Given the description of an element on the screen output the (x, y) to click on. 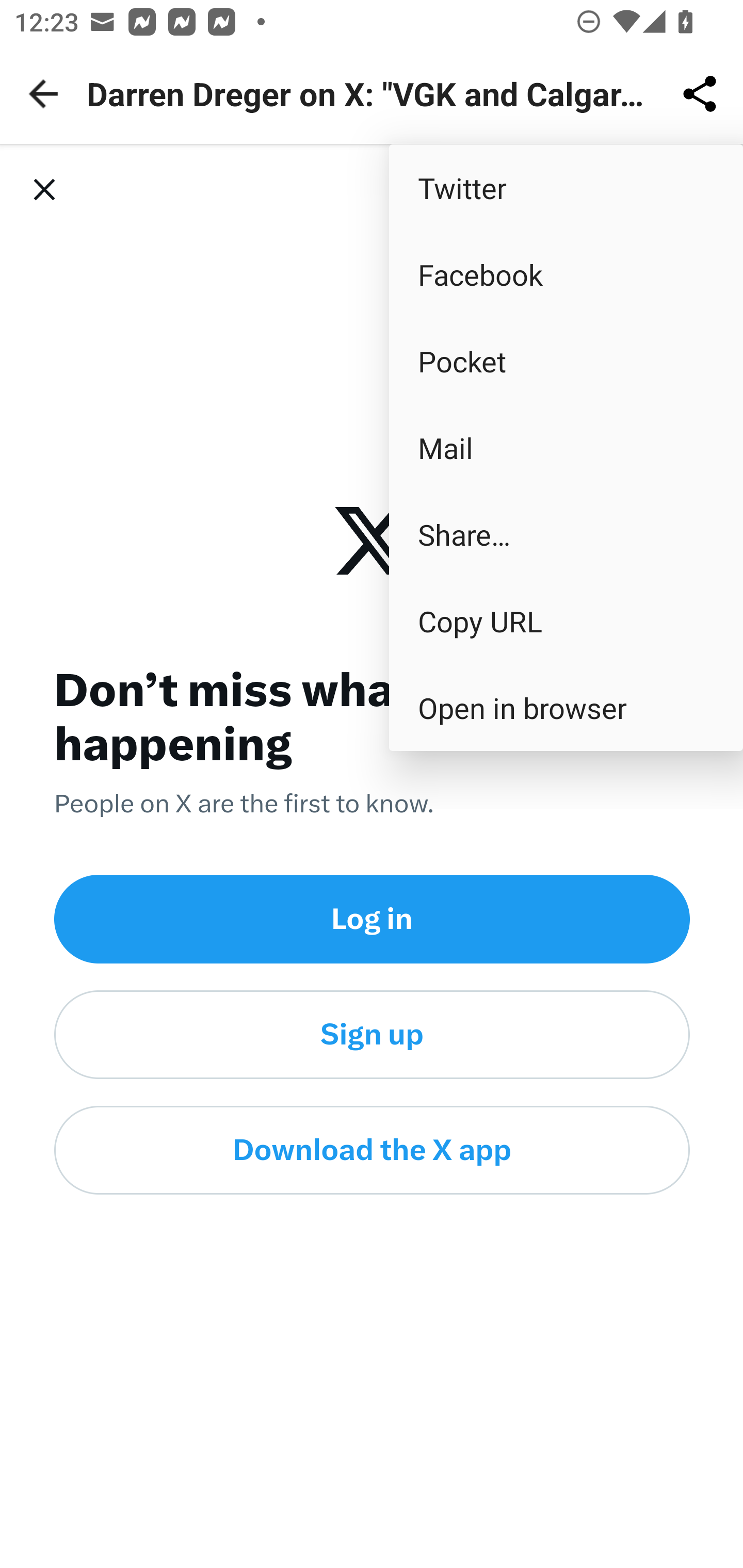
Twitter (566, 187)
Facebook (566, 274)
Pocket (566, 361)
Mail (566, 447)
Share… (566, 533)
Copy URL (566, 620)
Open in browser (566, 707)
